Given the description of an element on the screen output the (x, y) to click on. 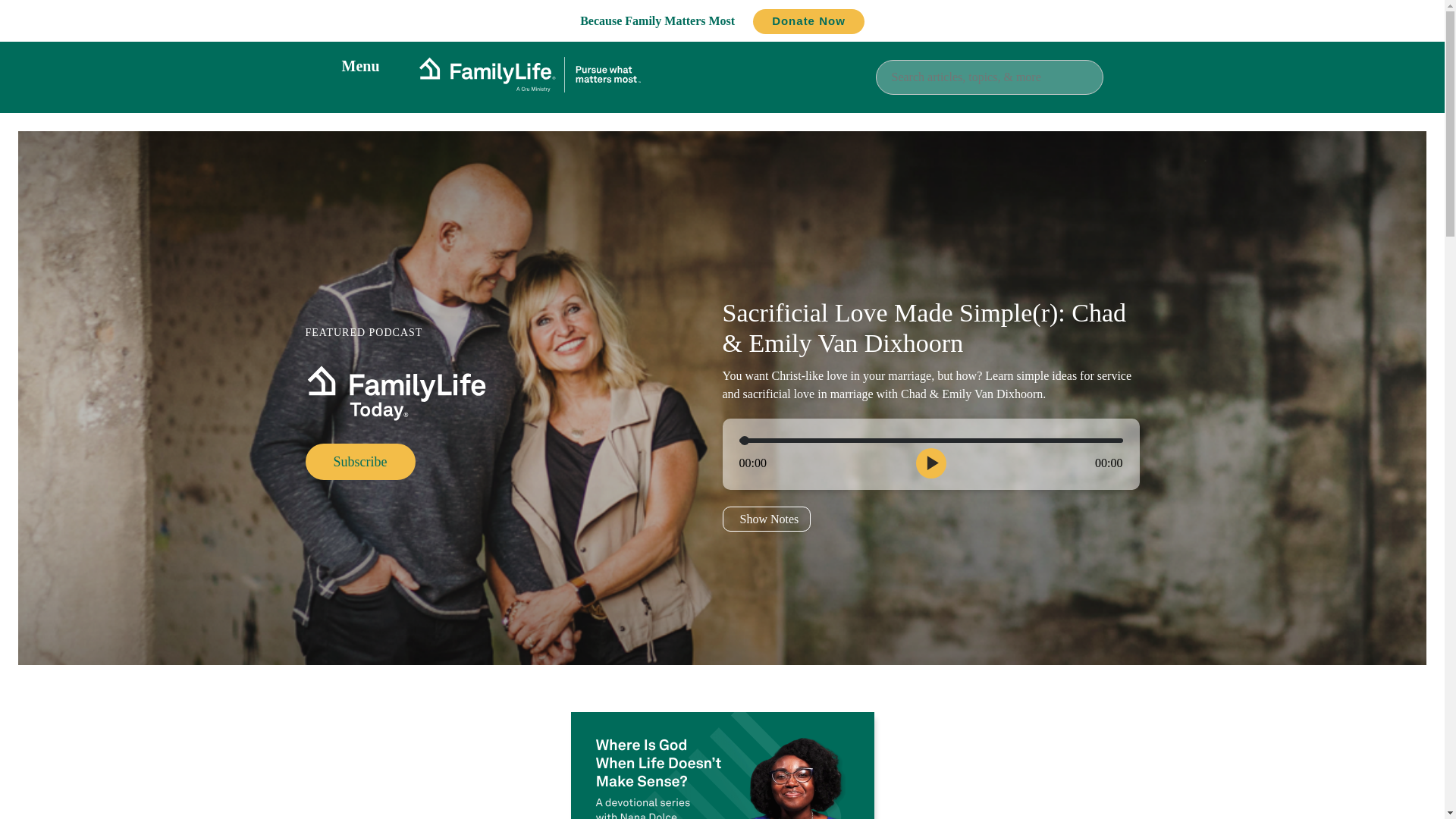
Subscribe (359, 461)
Donate Now (808, 21)
Show Notes (766, 518)
Because Family Matters Most Donate Now (721, 20)
0 (930, 440)
Search for: (988, 76)
